Given the description of an element on the screen output the (x, y) to click on. 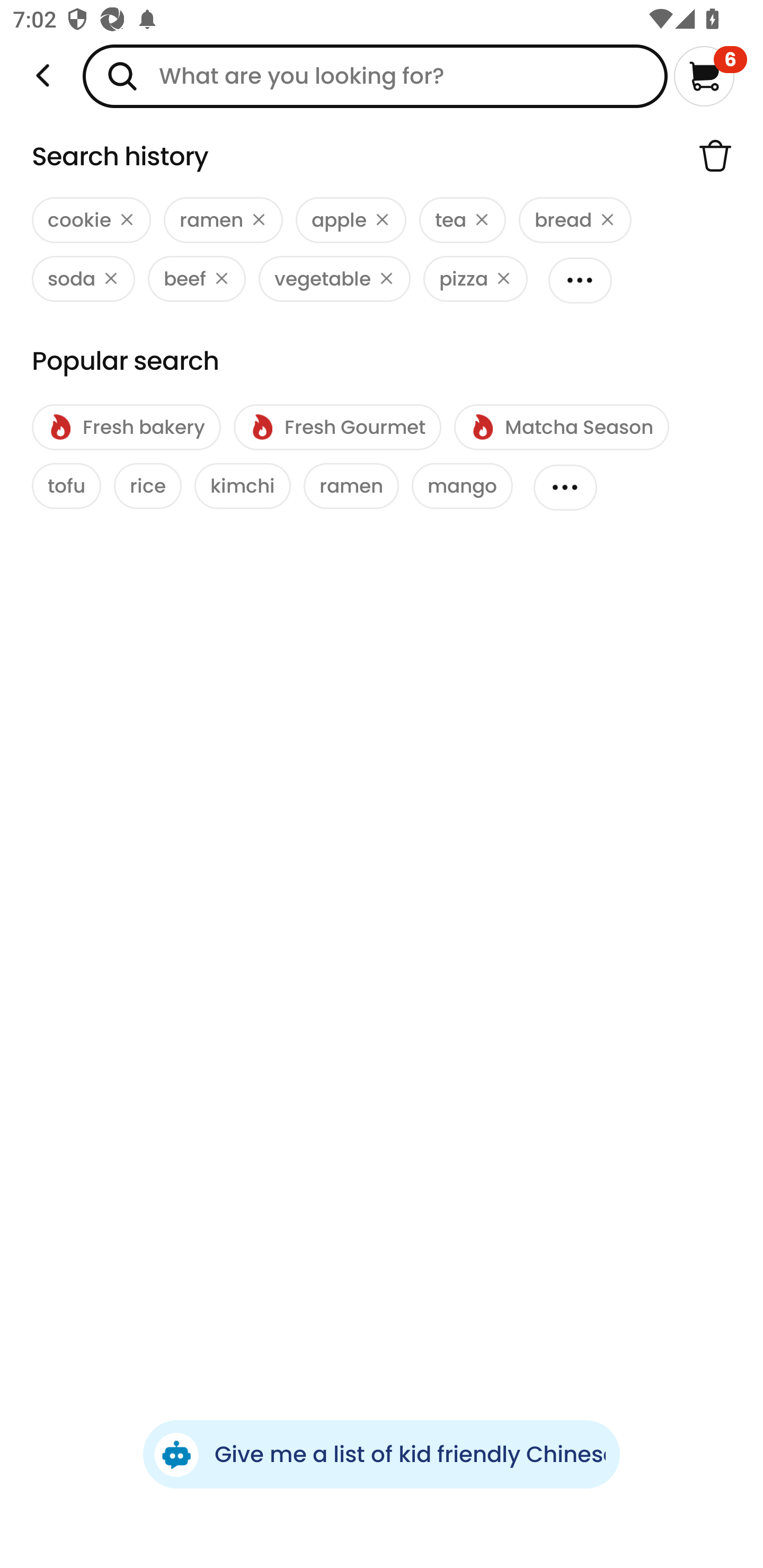
What are you looking for? (374, 75)
6 (709, 75)
Weee! (42, 76)
cookie (91, 220)
ramen (223, 220)
apple (351, 220)
tea (461, 220)
bread (574, 220)
soda (83, 278)
beef (196, 278)
vegetable (334, 278)
pizza (475, 278)
Fresh bakery (126, 427)
Fresh Gourmet (337, 427)
Matcha Season (561, 427)
tofu (66, 485)
rice (147, 485)
kimchi (242, 485)
ramen (351, 485)
mango (462, 485)
